Given the description of an element on the screen output the (x, y) to click on. 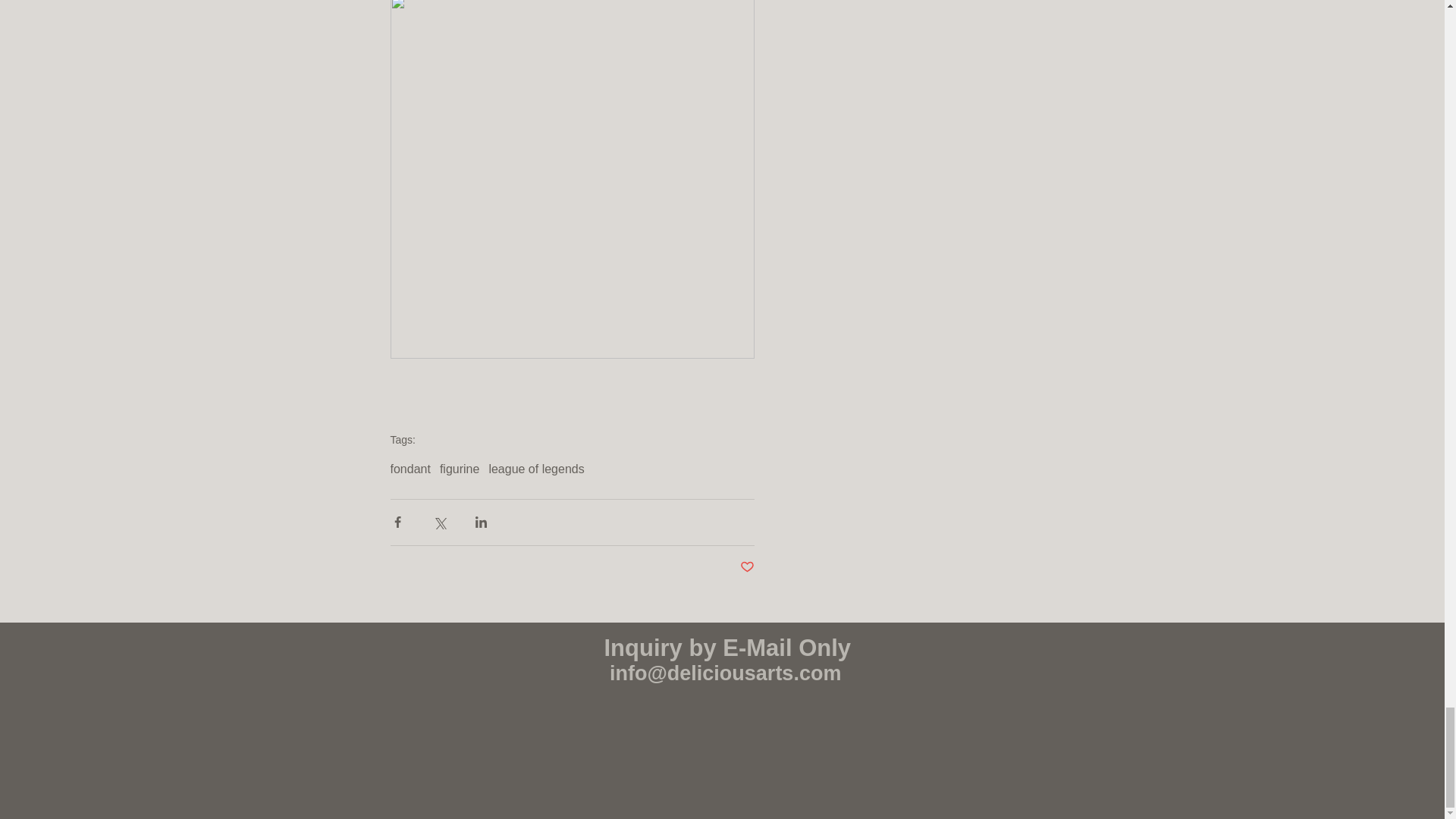
Post not marked as liked (746, 567)
figurine (459, 468)
league of legends (535, 468)
fondant (409, 468)
Inquiry by E-Mail Only (727, 647)
